Given the description of an element on the screen output the (x, y) to click on. 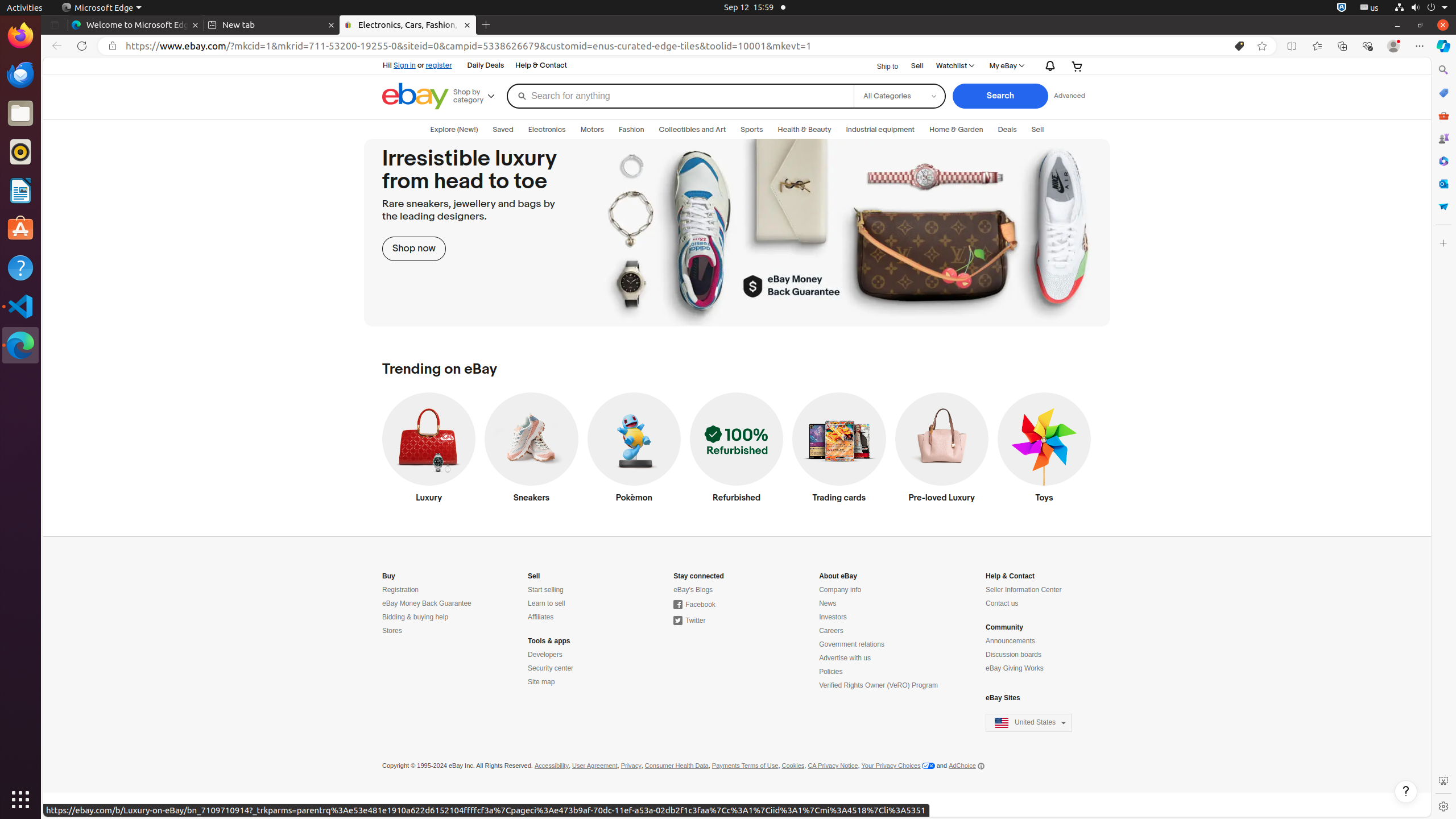
Sell Element type: link (917, 65)
Government relations Element type: link (851, 644)
Fashion Element type: link (631, 129)
Affiliates Element type: link (540, 617)
Ship to Element type: push-button (880, 66)
